Given the description of an element on the screen output the (x, y) to click on. 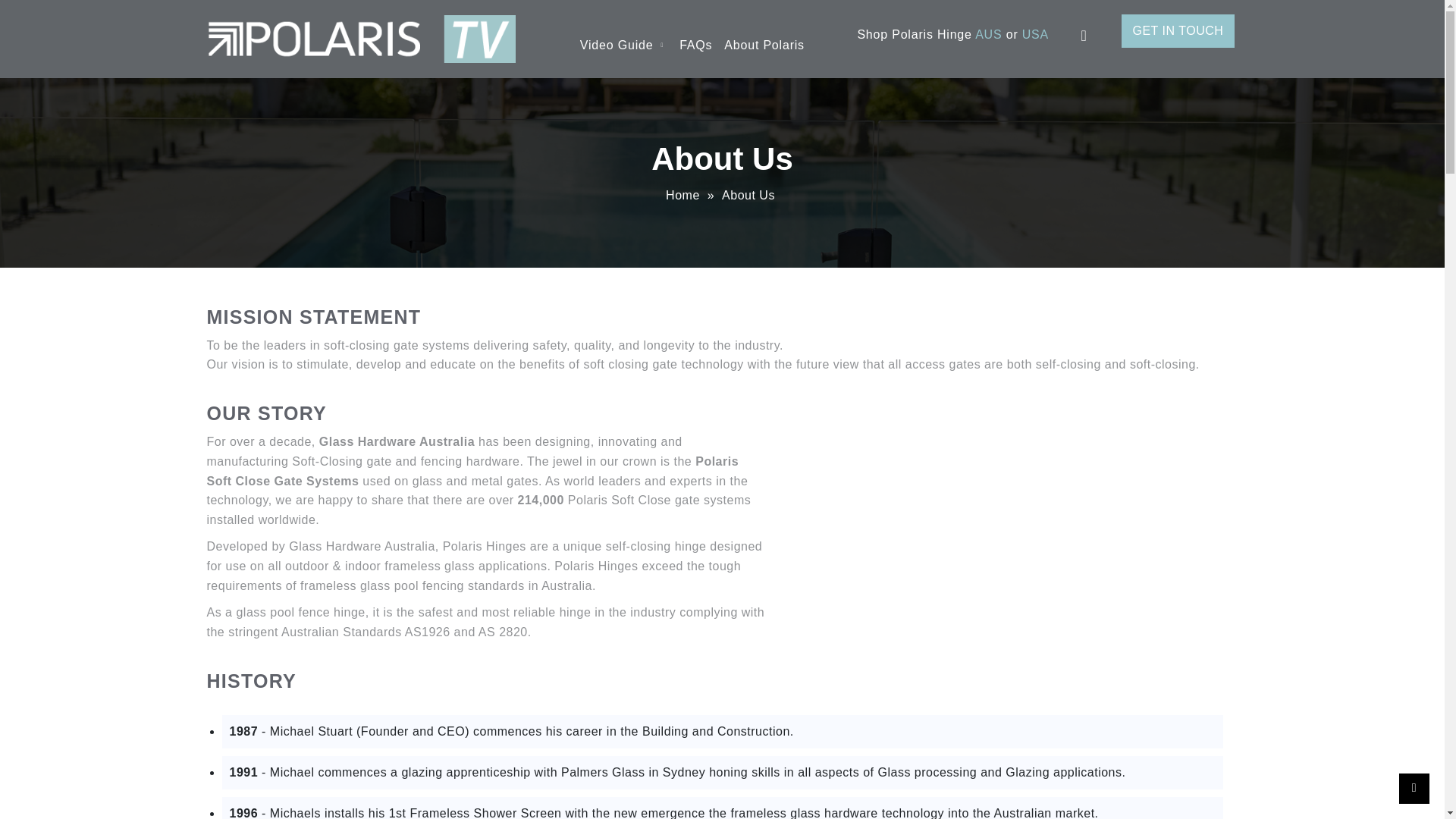
About Polaris (763, 52)
USA (1035, 33)
Video Guide (622, 52)
FAQs (694, 52)
AUS (988, 33)
